Given the description of an element on the screen output the (x, y) to click on. 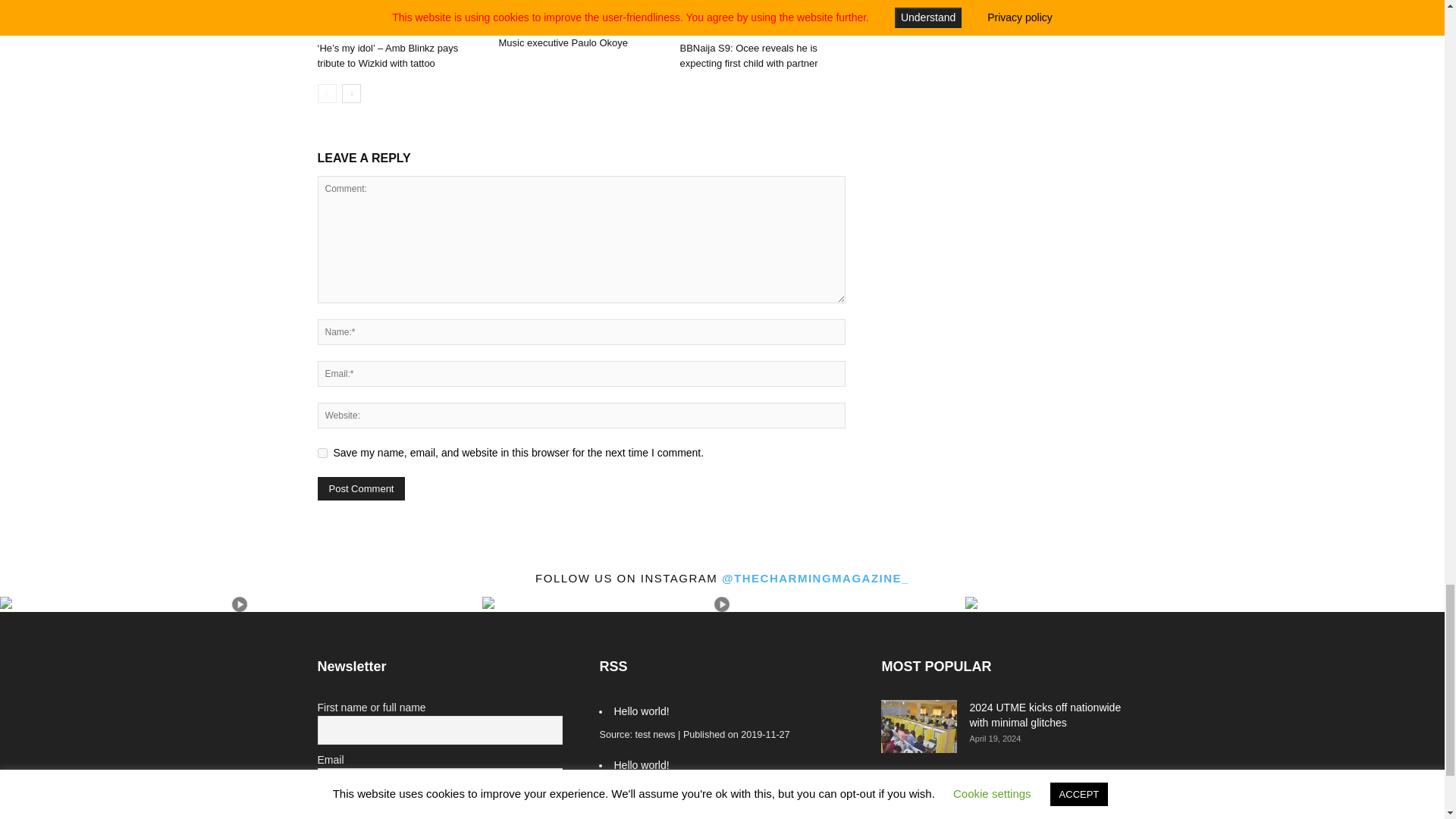
Post Comment (360, 488)
on (321, 810)
yes (321, 452)
